Given the description of an element on the screen output the (x, y) to click on. 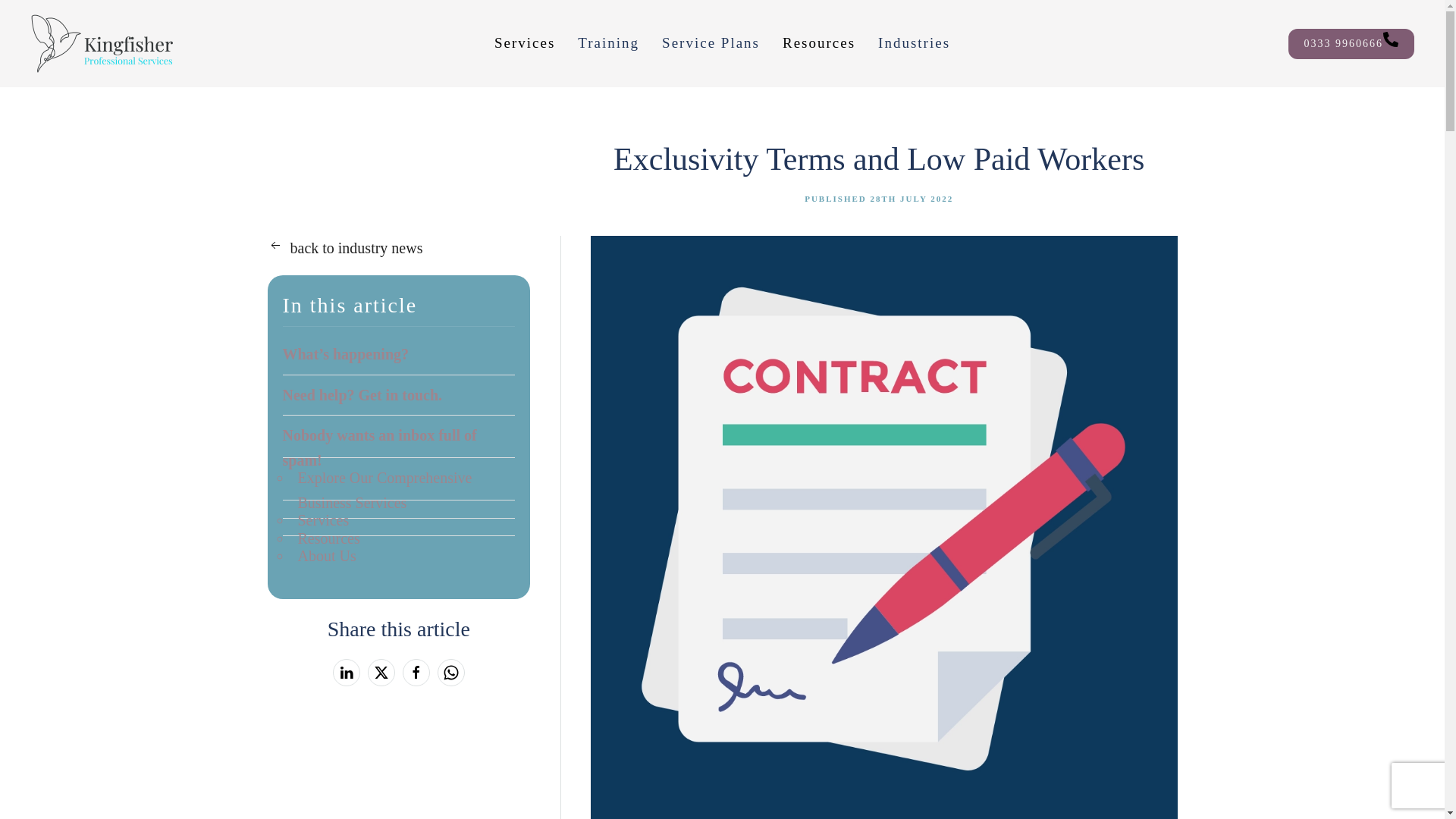
Services (524, 43)
